Given the description of an element on the screen output the (x, y) to click on. 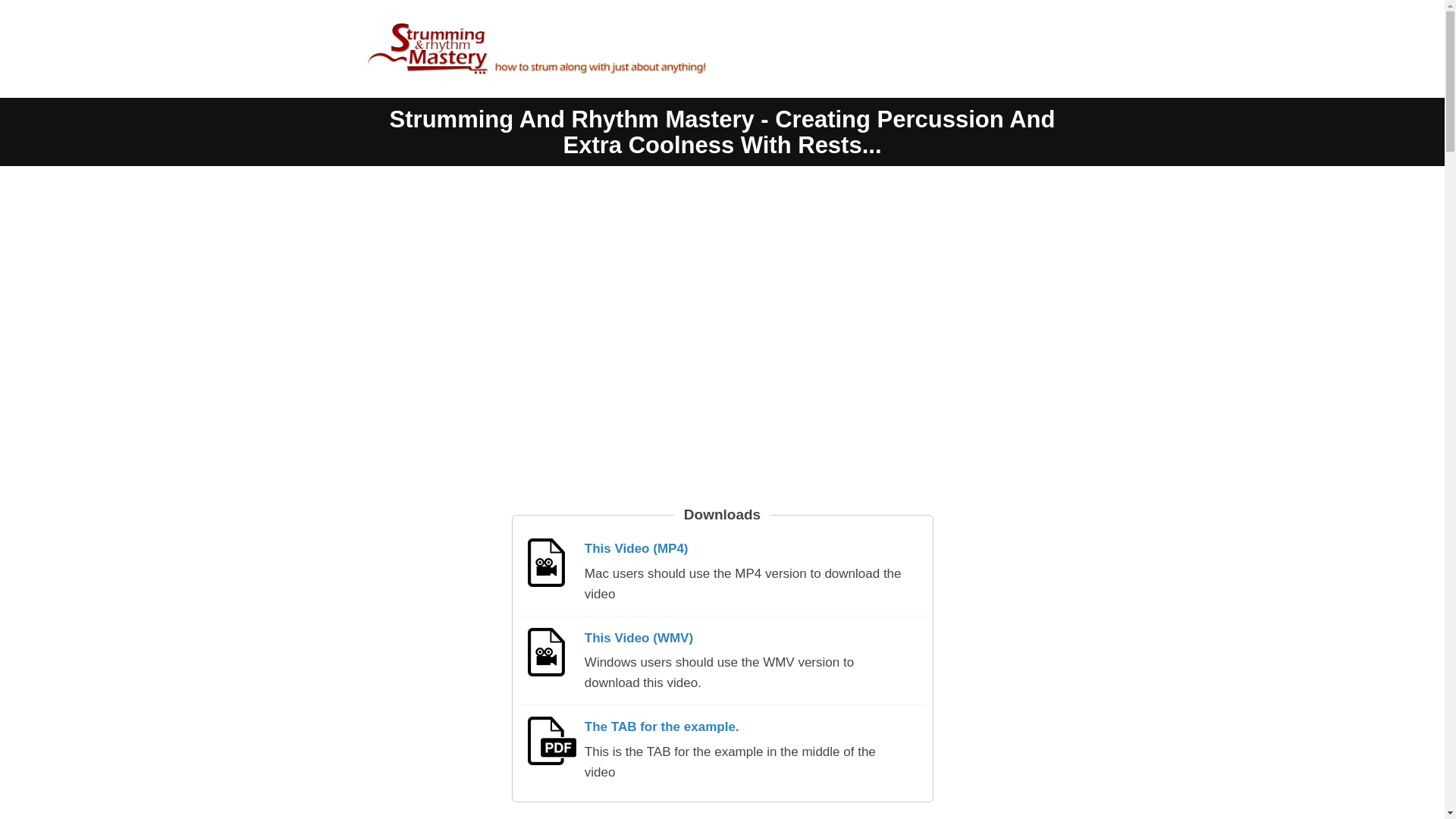
The TAB for the example. (662, 726)
